Given the description of an element on the screen output the (x, y) to click on. 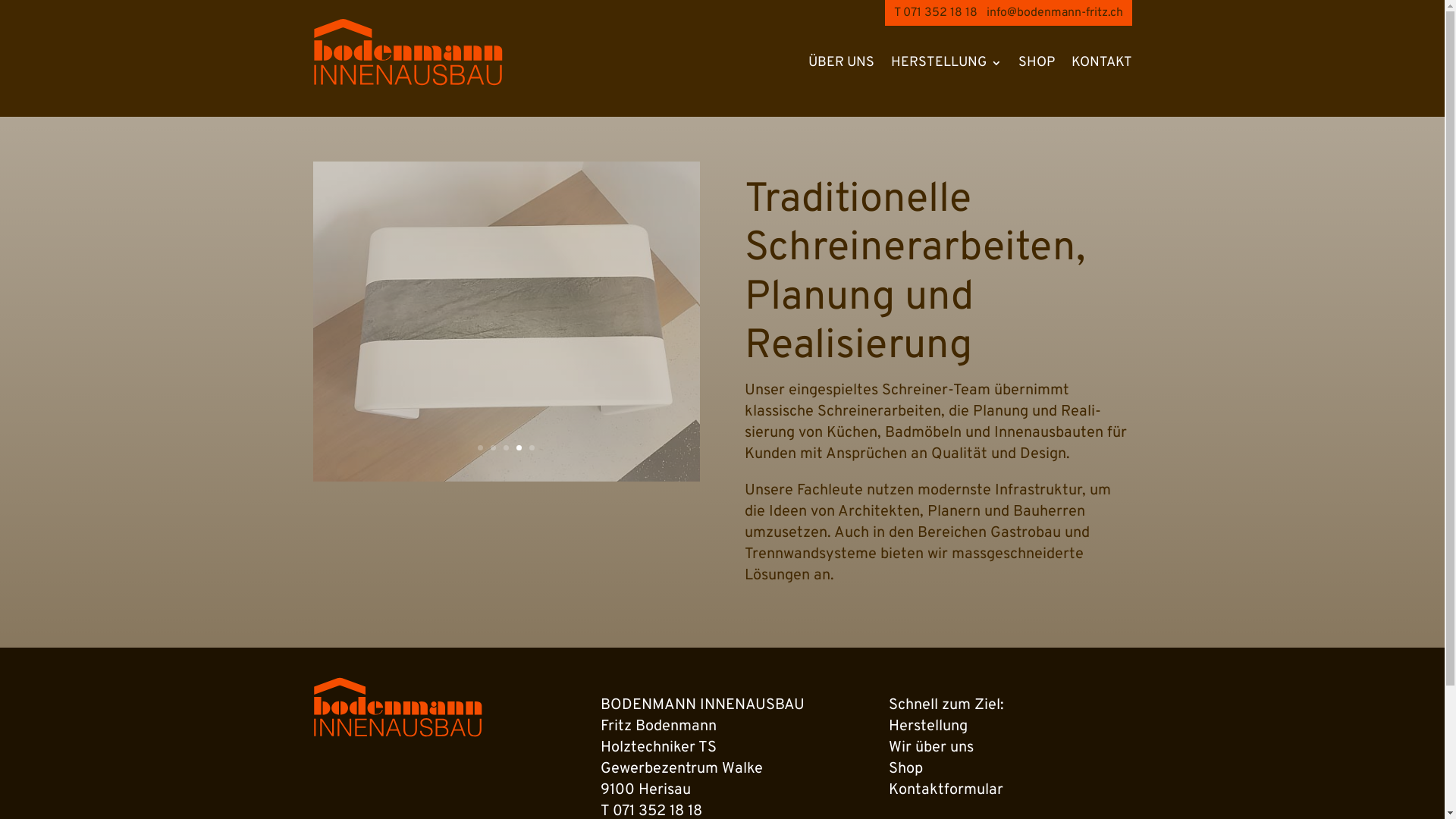
info@bodenmann-fritz.ch Element type: text (1053, 12)
2 Element type: text (492, 447)
HERSTELLUNG Element type: text (945, 62)
Shop Element type: text (905, 768)
Bodenmann Innenausbau Element type: hover (397, 706)
1 Element type: text (480, 447)
5 Element type: text (531, 447)
Kontaktformular Element type: text (945, 790)
SHOP Element type: text (1035, 62)
Herstellung Element type: text (927, 726)
T 071 352 18 18 Element type: text (934, 12)
4 Element type: text (518, 447)
3 Element type: text (505, 447)
KONTAKT Element type: text (1100, 62)
